Given the description of an element on the screen output the (x, y) to click on. 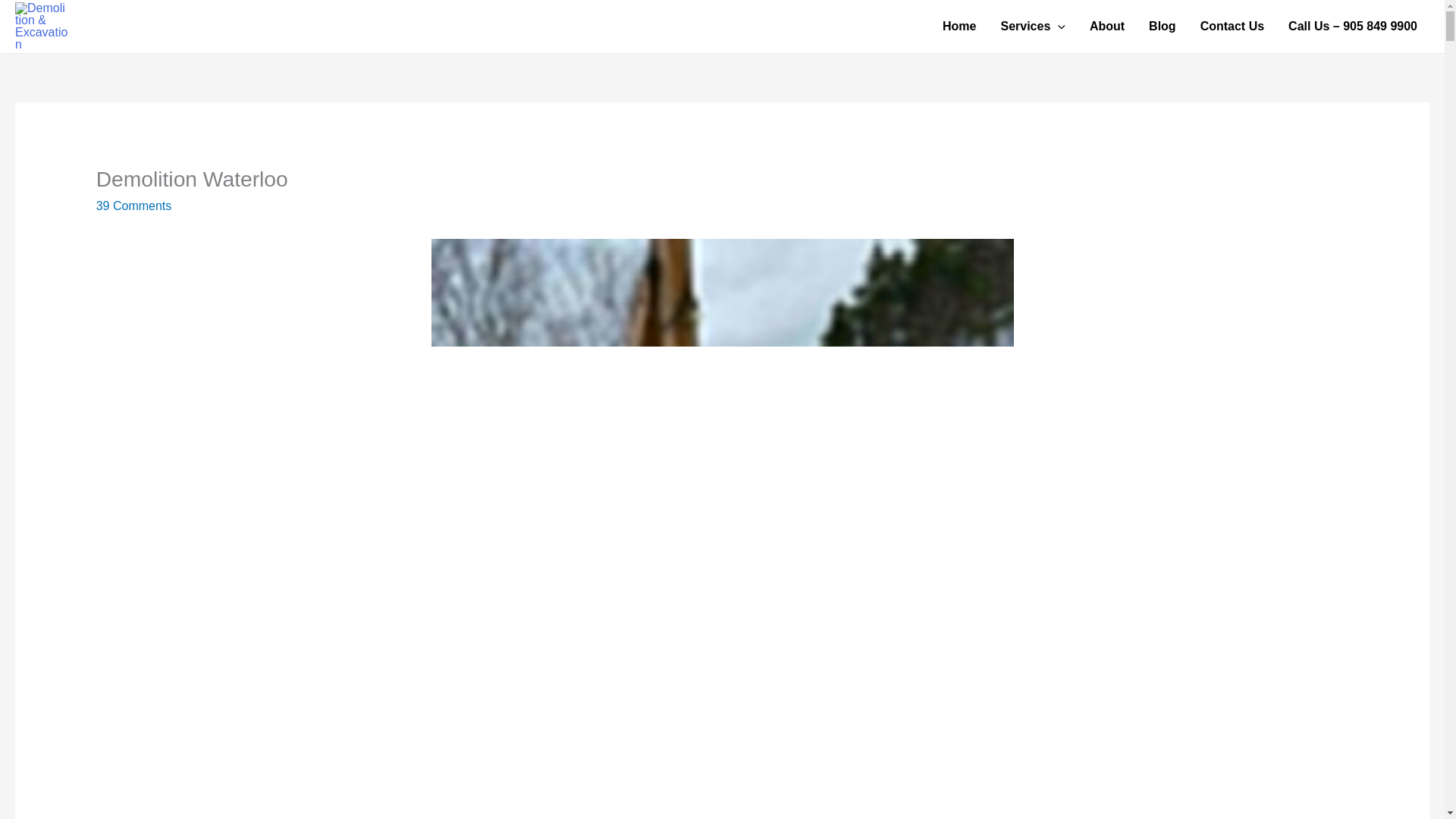
Services (1032, 26)
About (1107, 26)
Contact Us (1232, 26)
Blog (1162, 26)
Home (959, 26)
